Given the description of an element on the screen output the (x, y) to click on. 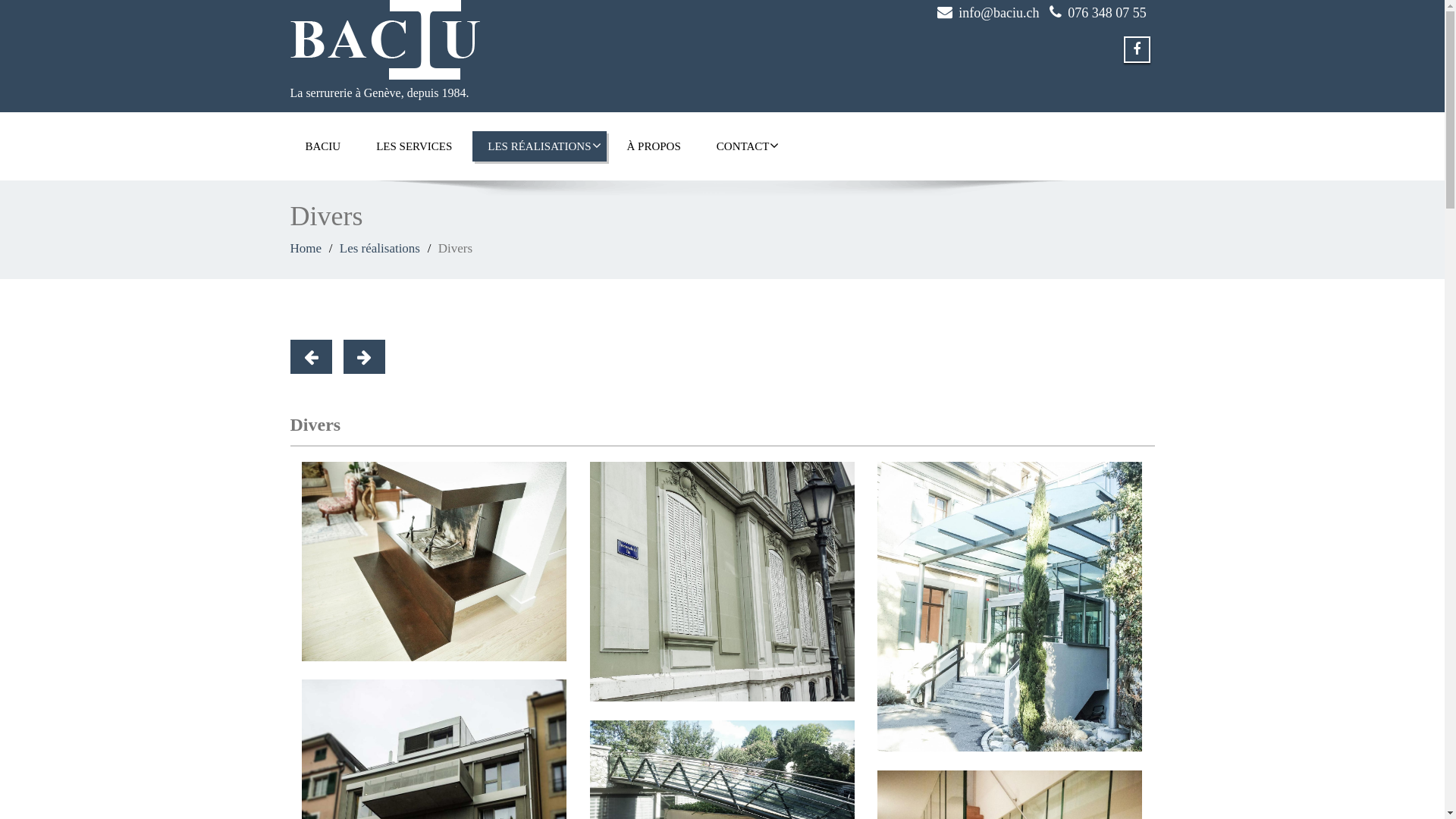
CONTACT Element type: text (742, 146)
LES SERVICES Element type: text (413, 146)
Home Element type: text (305, 248)
BACIU Element type: text (322, 146)
076 348 07 55 Element type: text (1106, 12)
Suivant Element type: hover (363, 356)
info@baciu.ch Element type: text (998, 12)
